Given the description of an element on the screen output the (x, y) to click on. 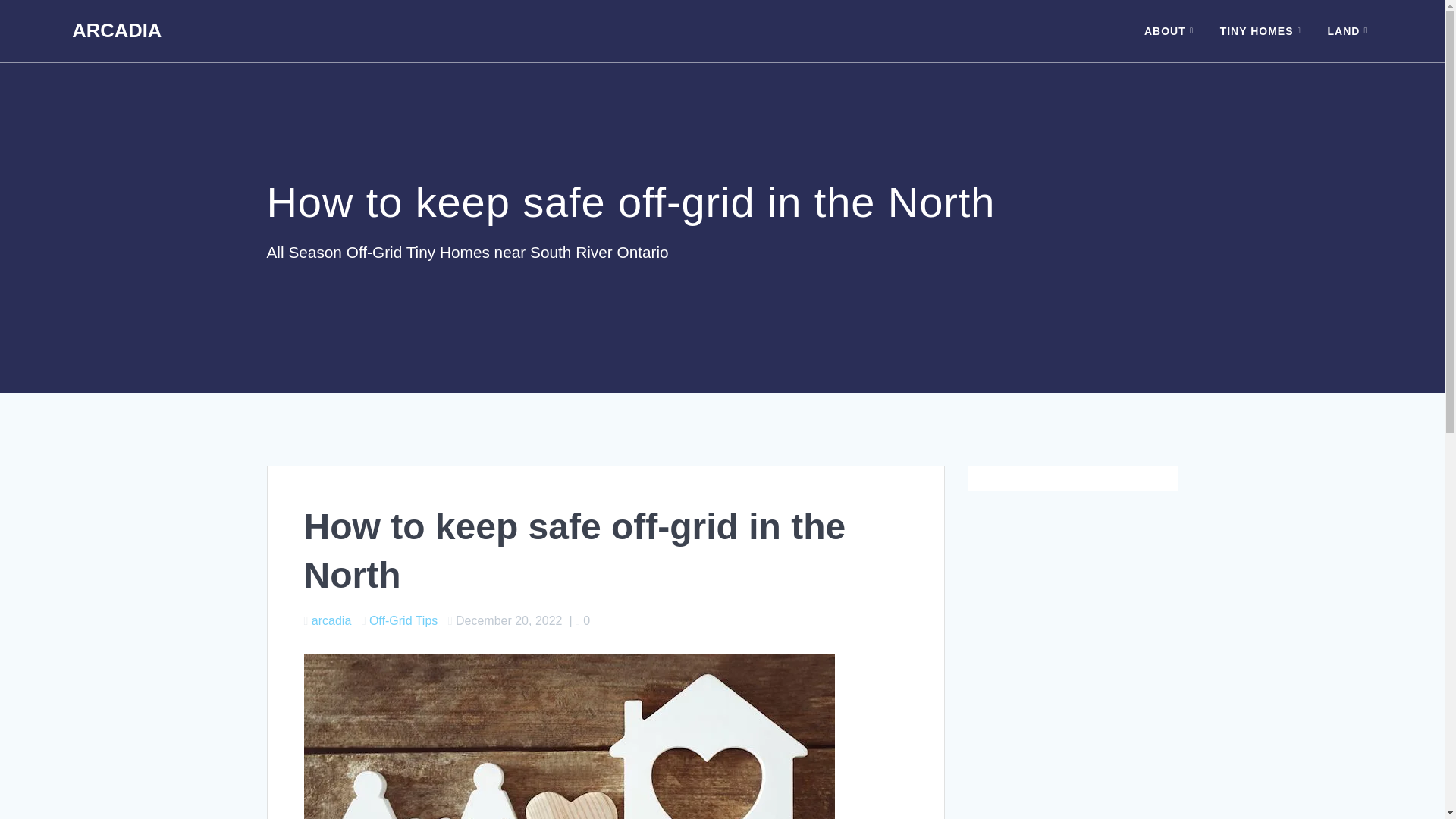
TINY HOMES (1263, 30)
LAND (1349, 30)
Posts by arcadia (330, 620)
ABOUT (1171, 30)
ARCADIA (116, 30)
